Given the description of an element on the screen output the (x, y) to click on. 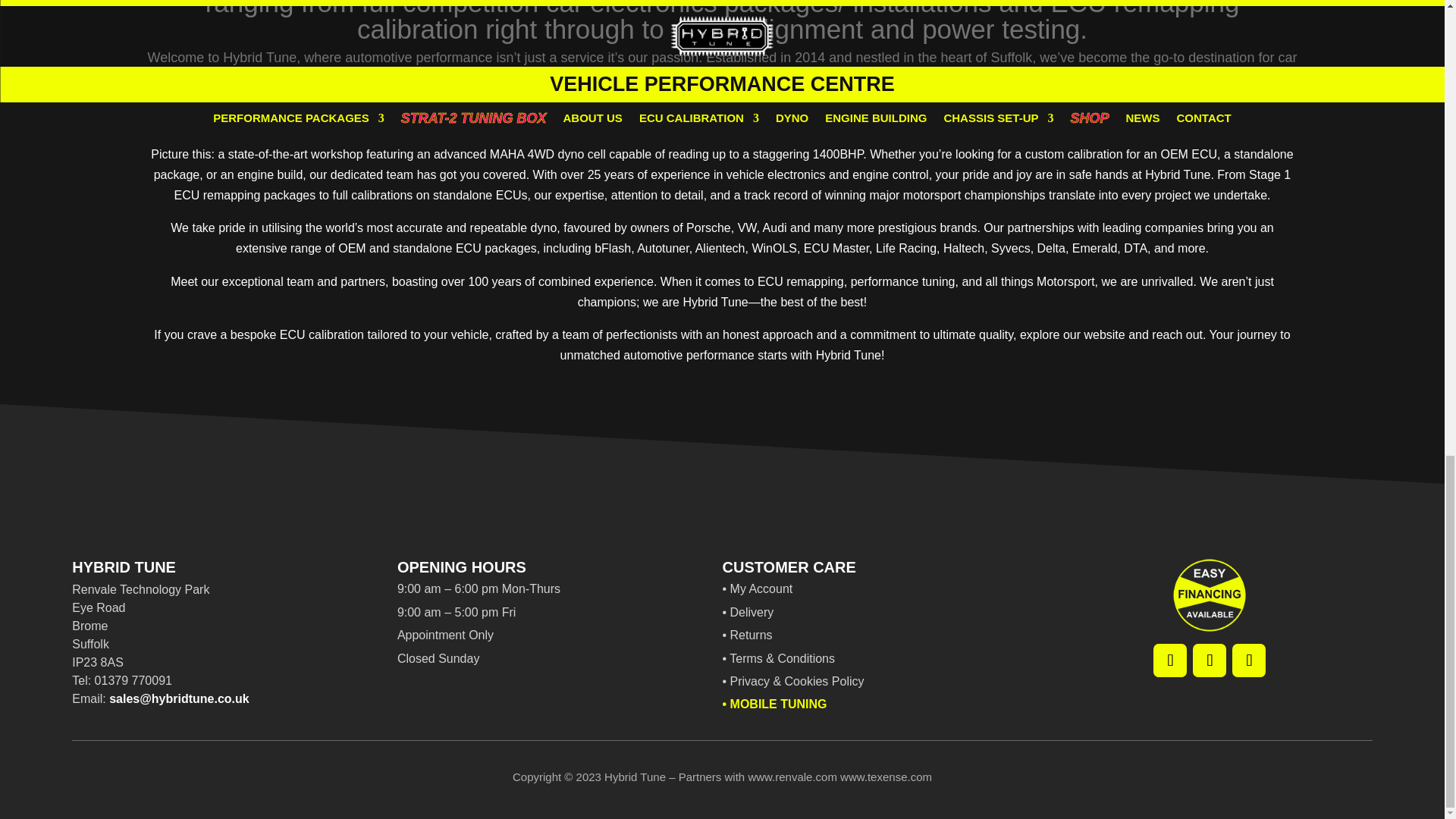
Follow on Youtube (1248, 660)
Follow on Facebook (1208, 660)
Follow on Instagram (1169, 660)
